Given the description of an element on the screen output the (x, y) to click on. 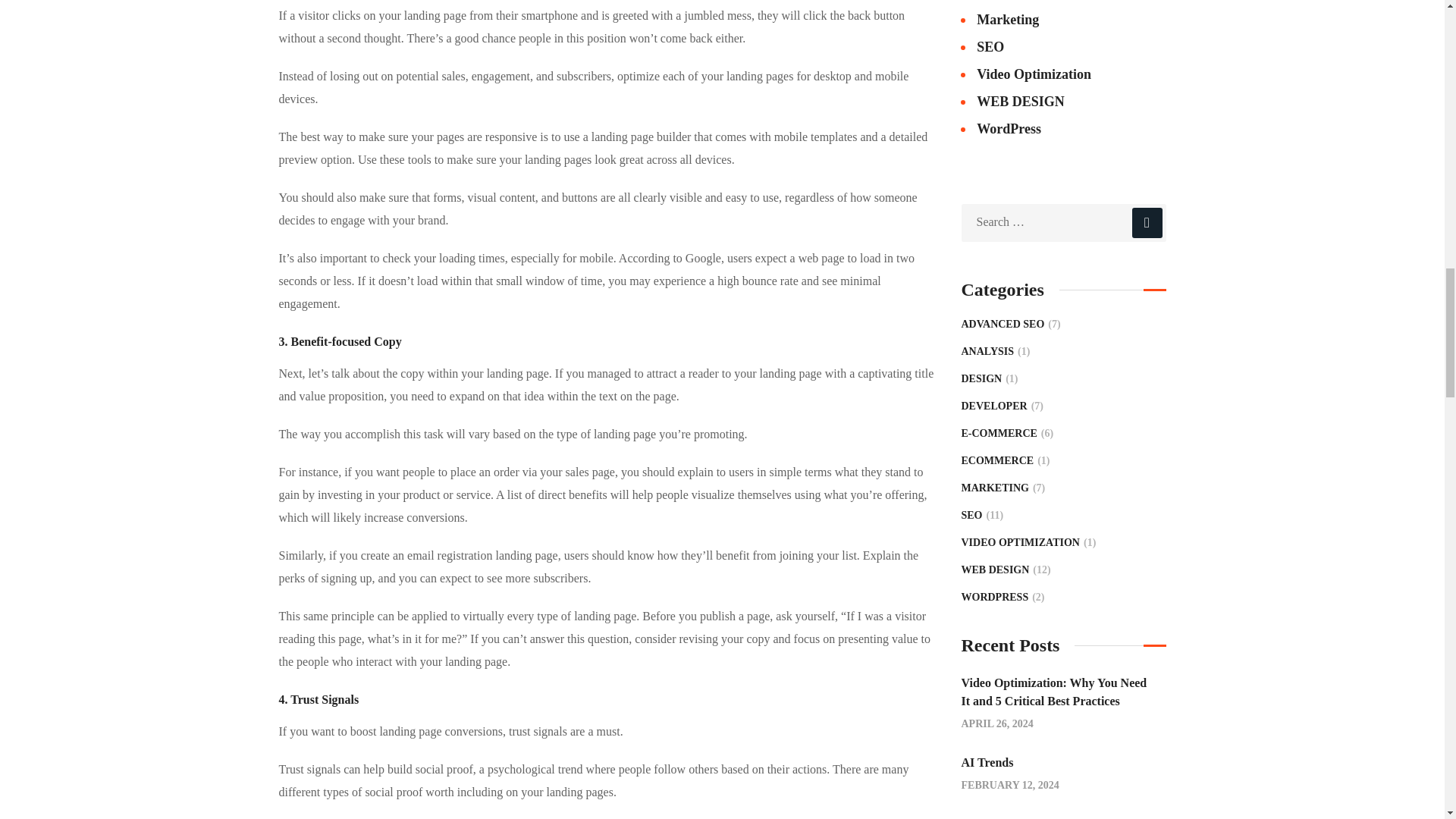
Permalink to AI Trends (986, 762)
